Given the description of an element on the screen output the (x, y) to click on. 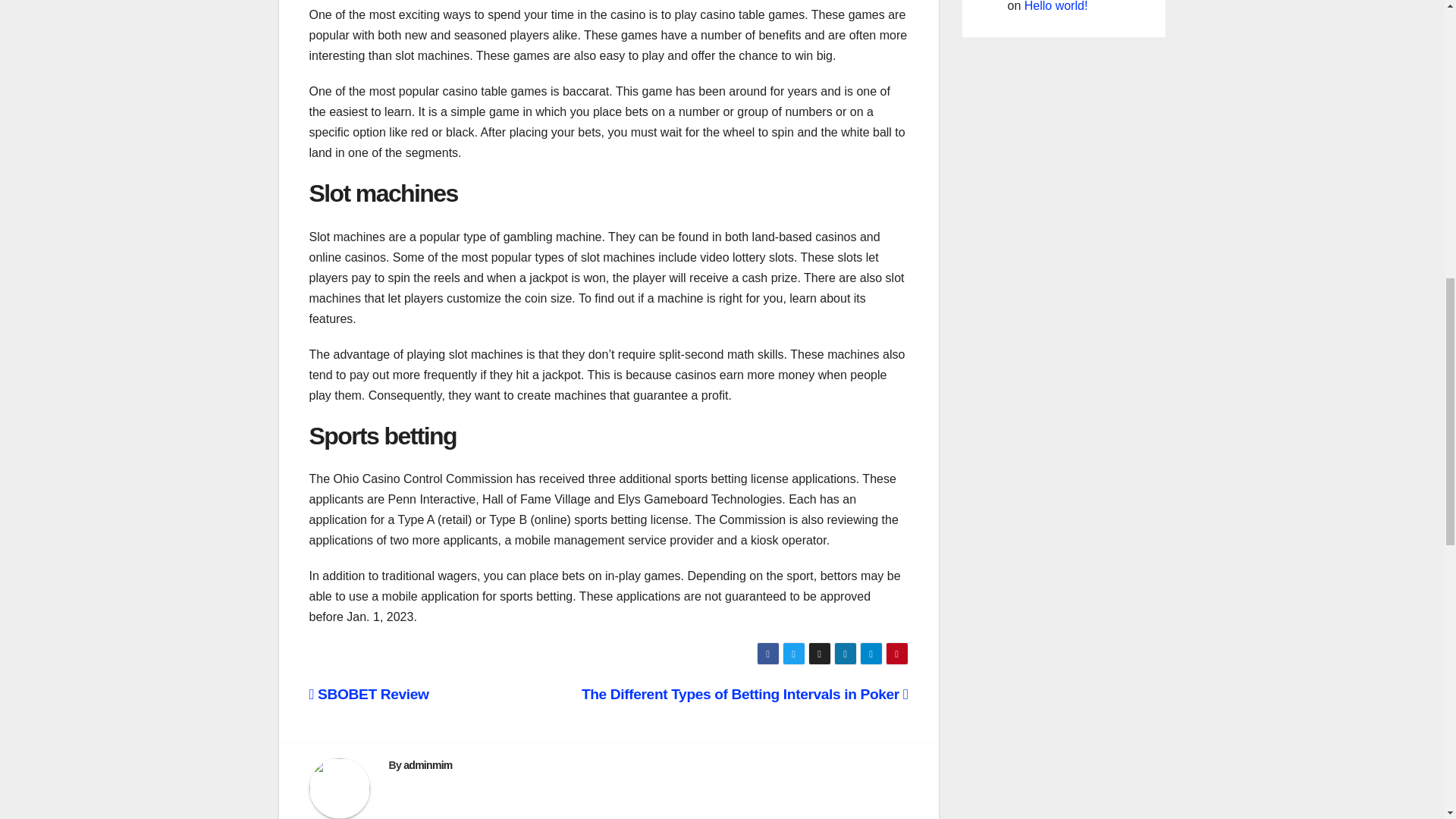
adminmim (427, 765)
The Different Types of Betting Intervals in Poker (744, 693)
SBOBET Review (368, 693)
